Given the description of an element on the screen output the (x, y) to click on. 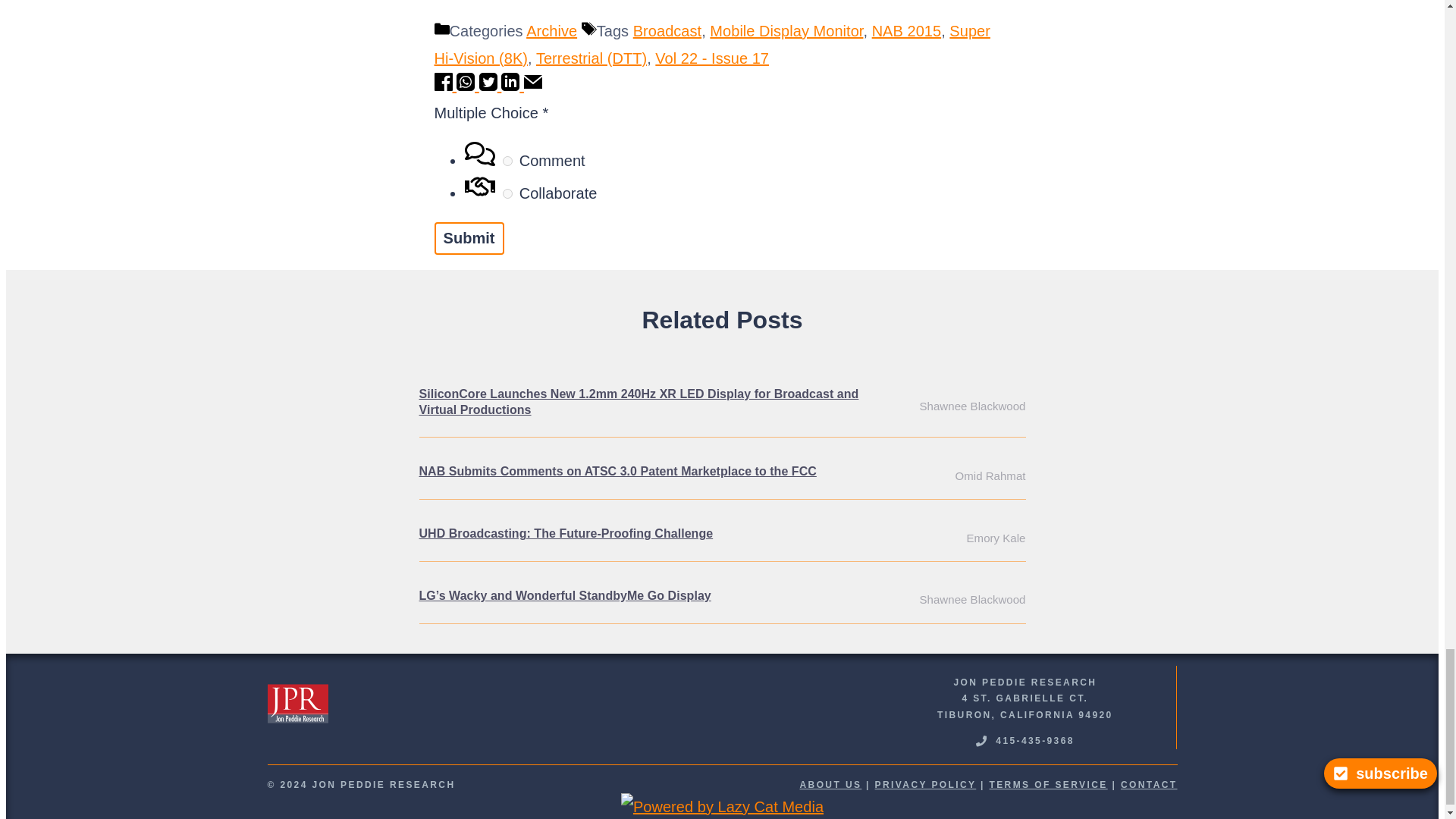
PRIVACY POLICY (925, 784)
Vol 22 - Issue 17 (711, 57)
ABOUT US (830, 784)
Archive (550, 30)
UHD Broadcasting: The Future-Proofing Challenge (566, 533)
NAB 2015 (907, 30)
Mobile Display Monitor (786, 30)
Broadcast (667, 30)
Submit (468, 237)
Collaborate (507, 194)
TERMS OF SERVICE (1047, 784)
Comment (507, 161)
